Given the description of an element on the screen output the (x, y) to click on. 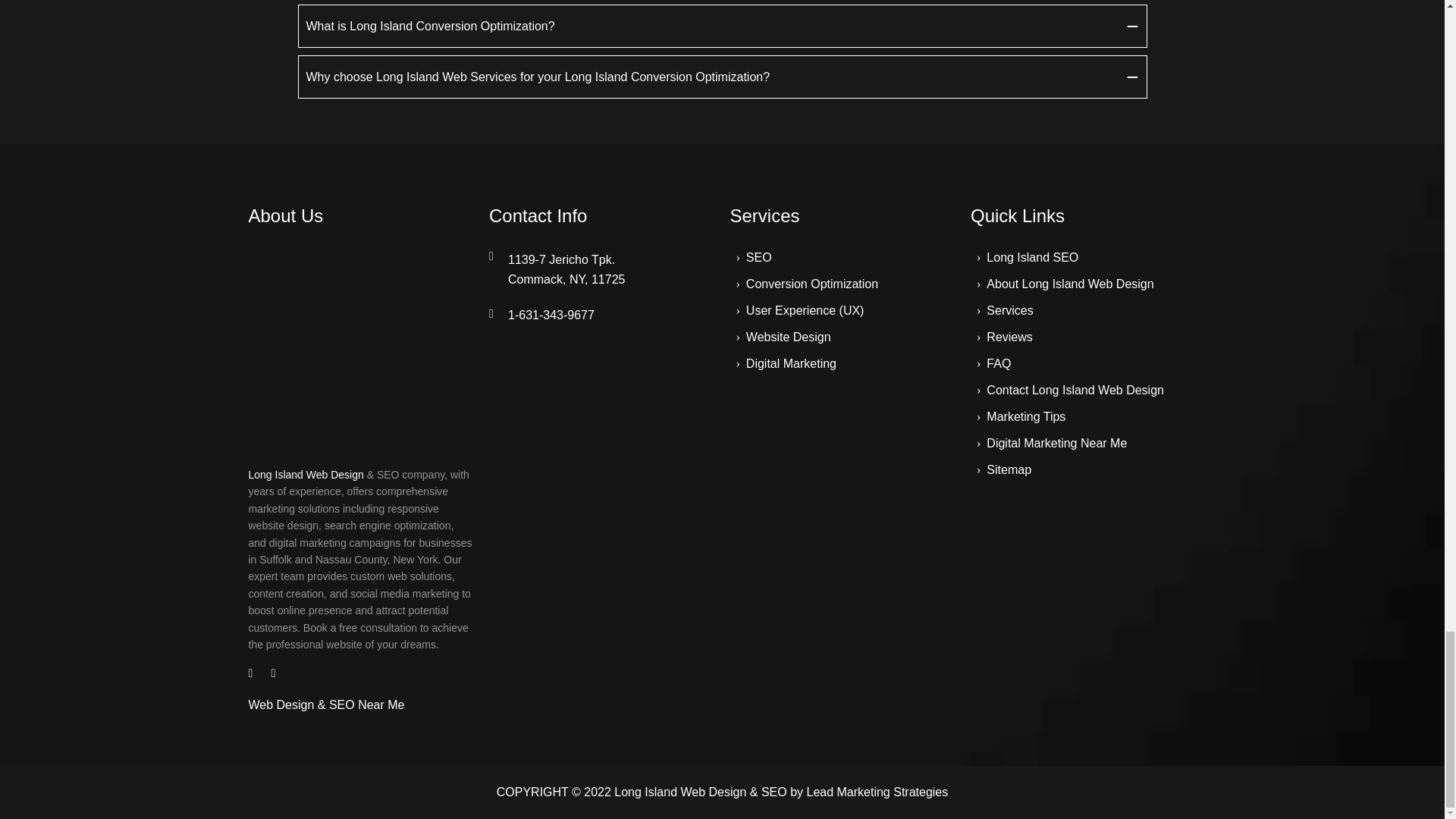
Long Island SEO (1032, 256)
Digital Marketing (790, 363)
About Long Island Web Design (1070, 283)
FAQ (998, 363)
Conversion Optimization (811, 283)
Website Design (601, 269)
SEO (788, 336)
About Long Island Web Design (758, 256)
Long Island Web Design (1070, 283)
